Given the description of an element on the screen output the (x, y) to click on. 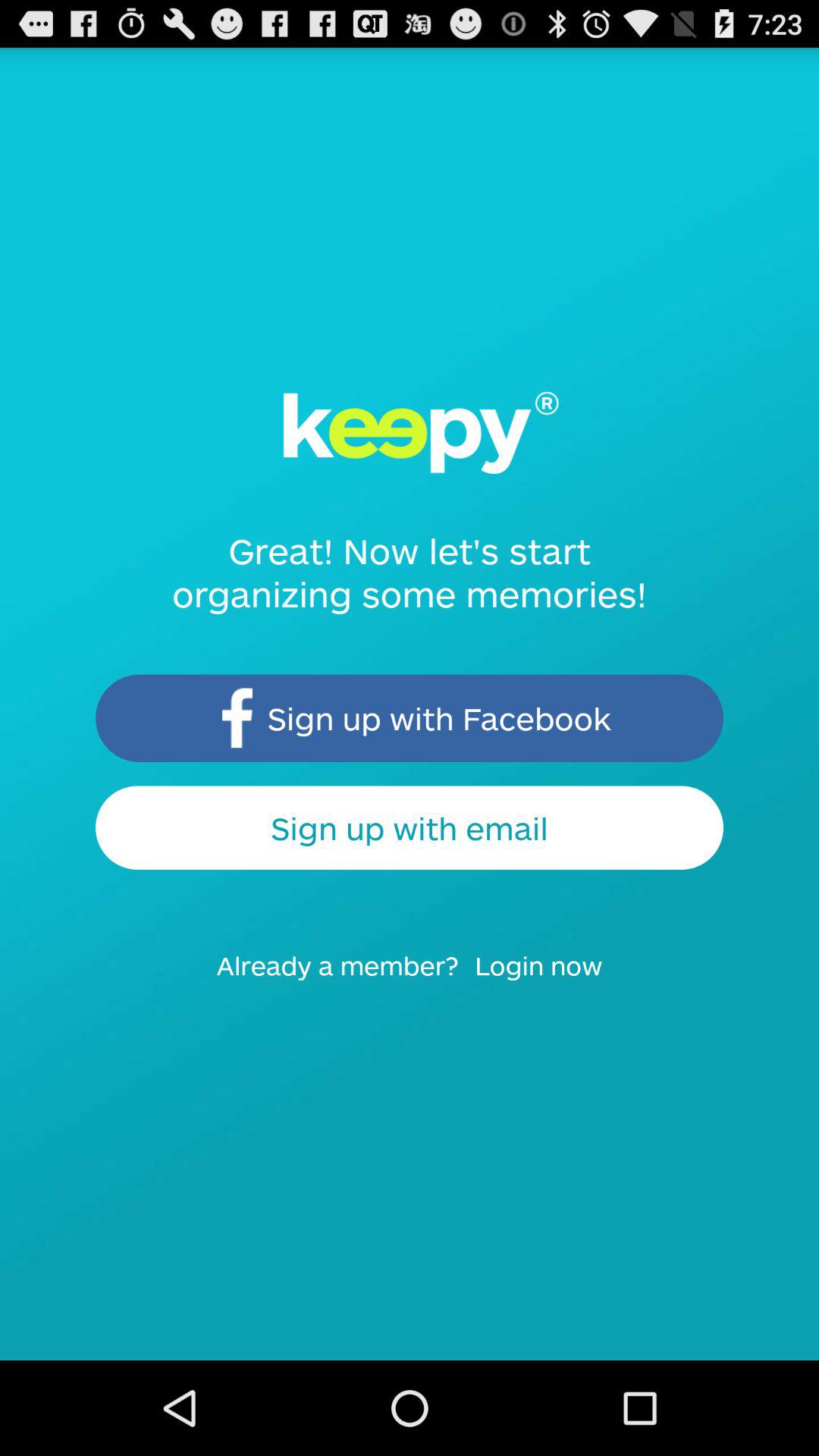
flip until the login now item (548, 980)
